Given the description of an element on the screen output the (x, y) to click on. 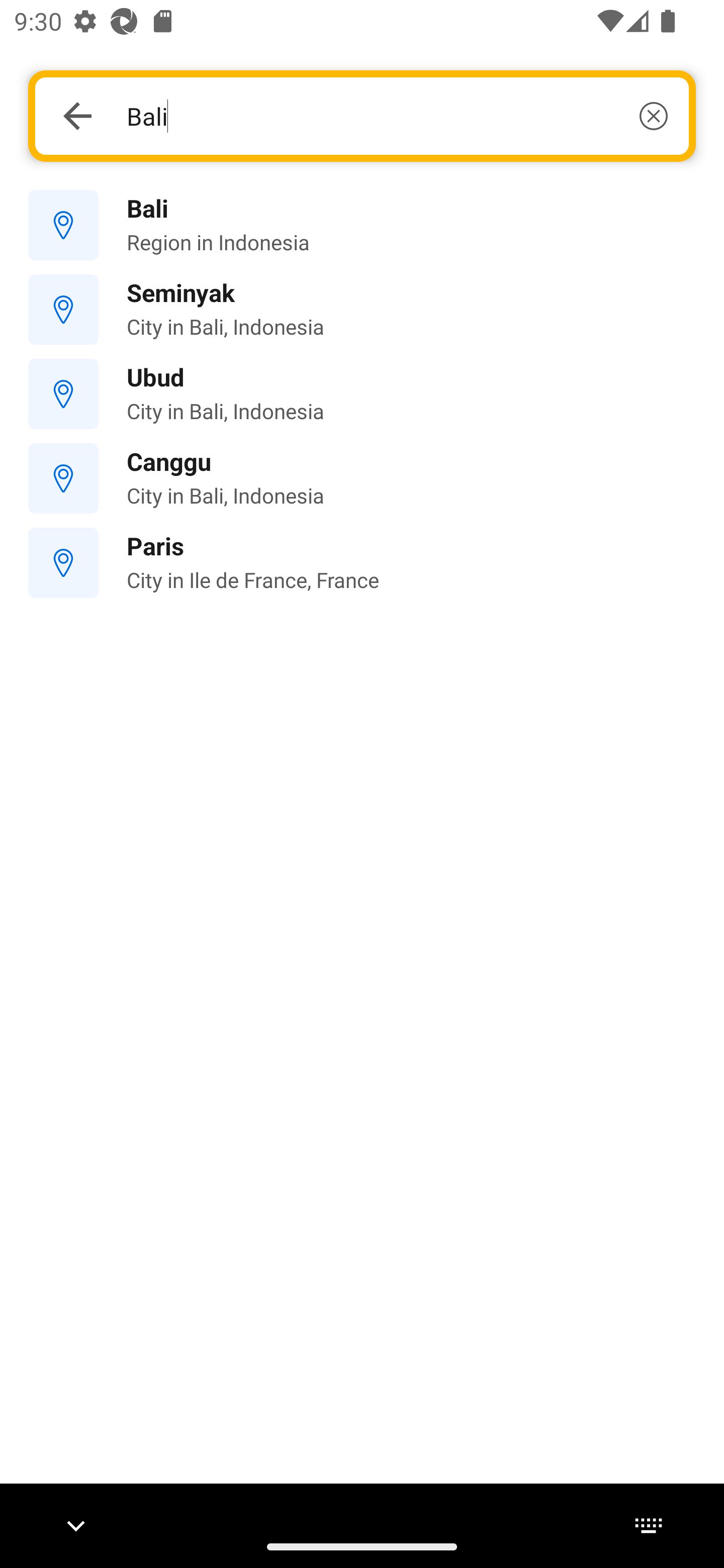
Bali (396, 115)
Bali Region in Indonesia (362, 225)
Seminyak City in Bali, Indonesia (362, 309)
Ubud City in Bali, Indonesia (362, 393)
Canggu City in Bali, Indonesia (362, 477)
Paris City in Ile de France, France (362, 562)
